Given the description of an element on the screen output the (x, y) to click on. 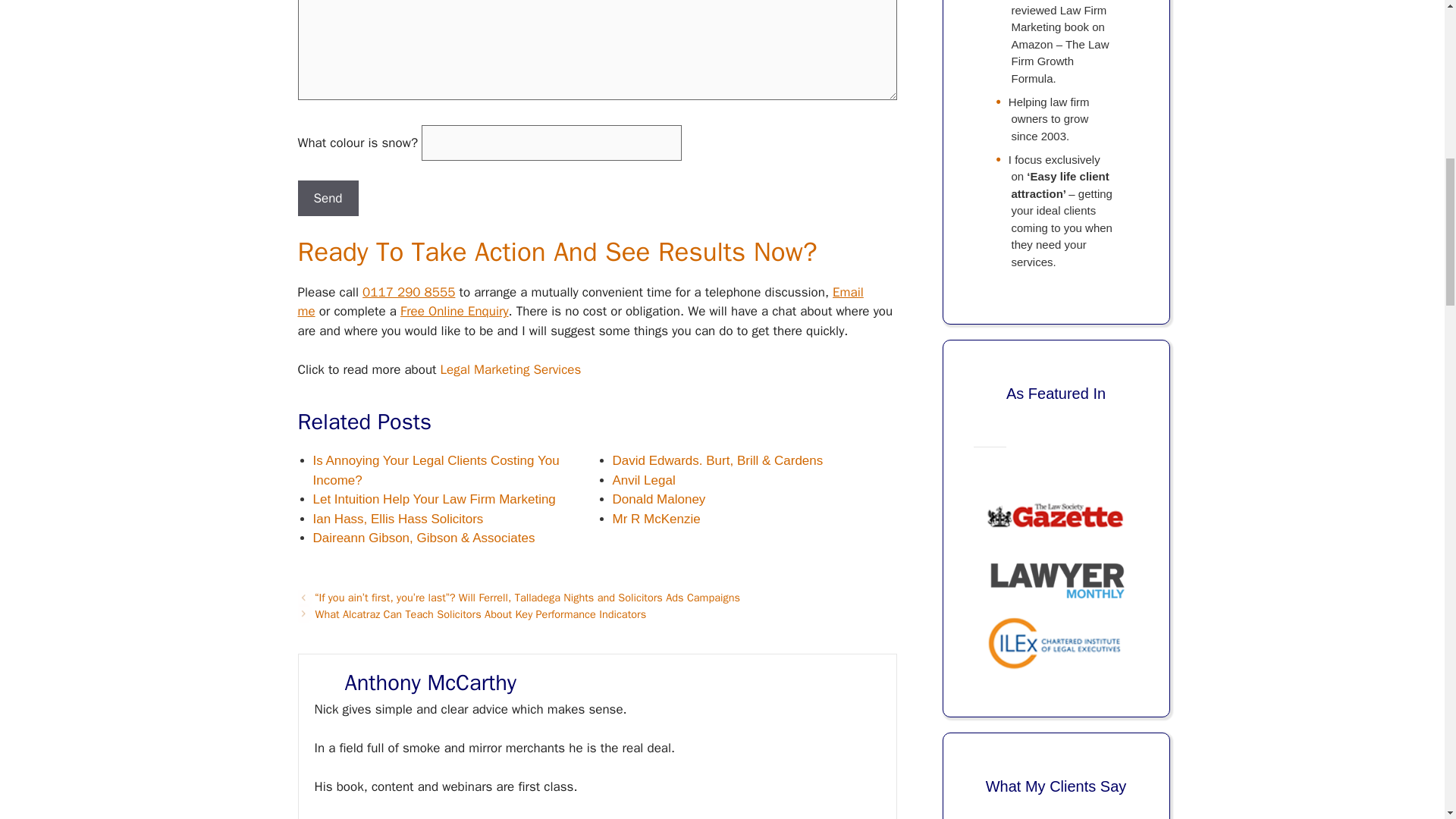
Send (327, 198)
